Given the description of an element on the screen output the (x, y) to click on. 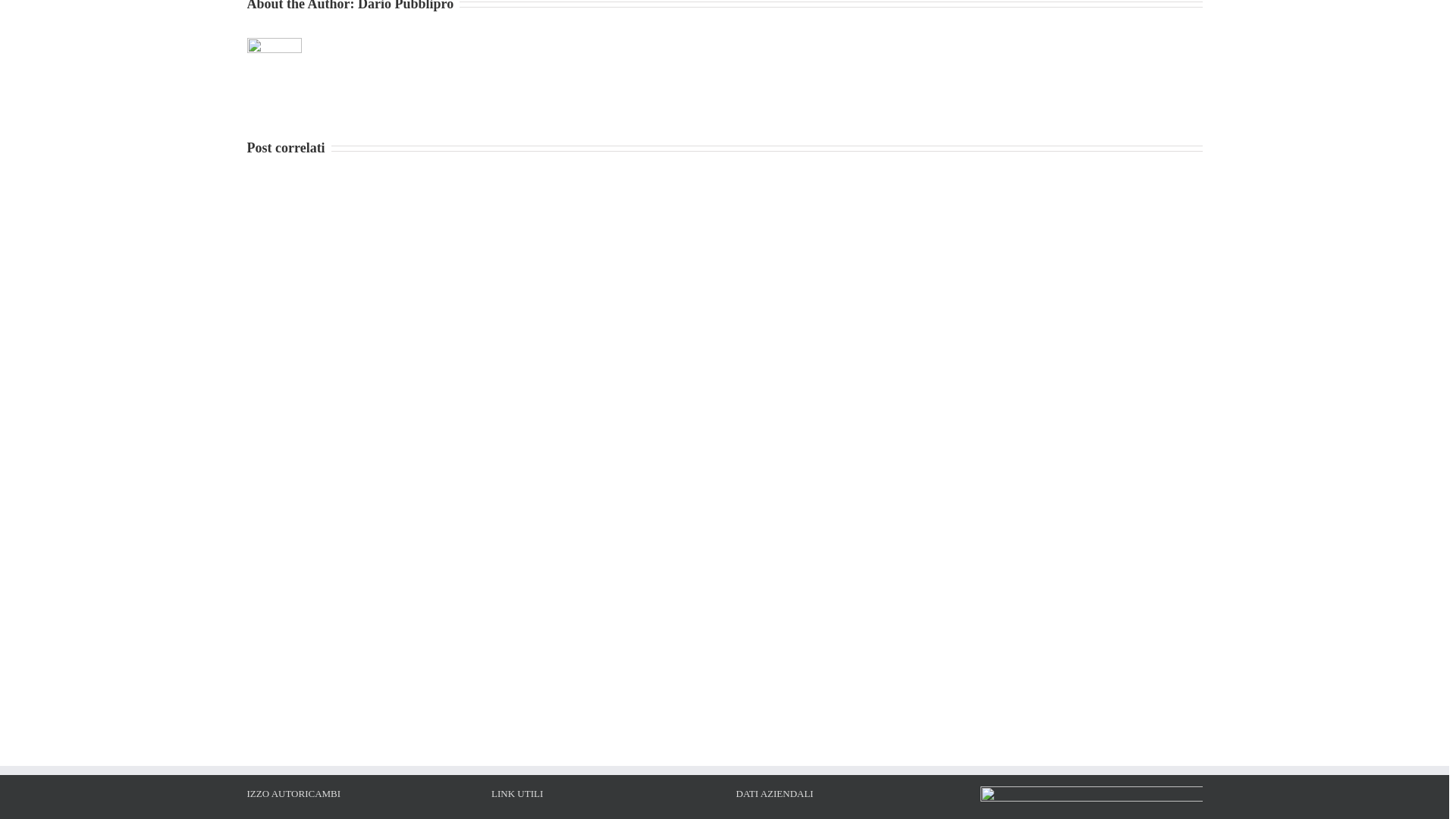
Dario Pubblipro (405, 5)
Articoli scritti da Dario Pubblipro (405, 5)
